Given the description of an element on the screen output the (x, y) to click on. 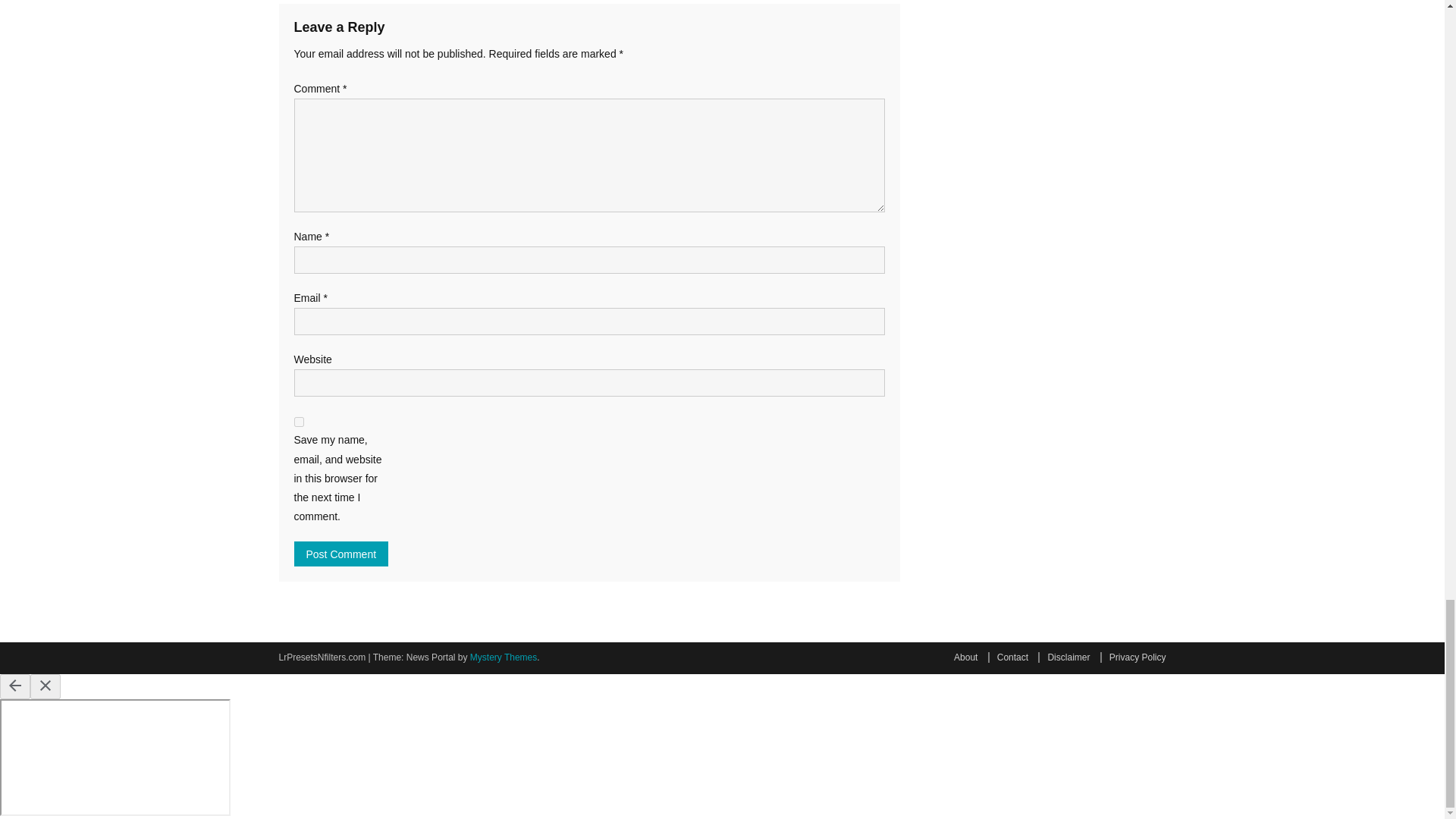
Post Comment (341, 553)
yes (299, 421)
